Given the description of an element on the screen output the (x, y) to click on. 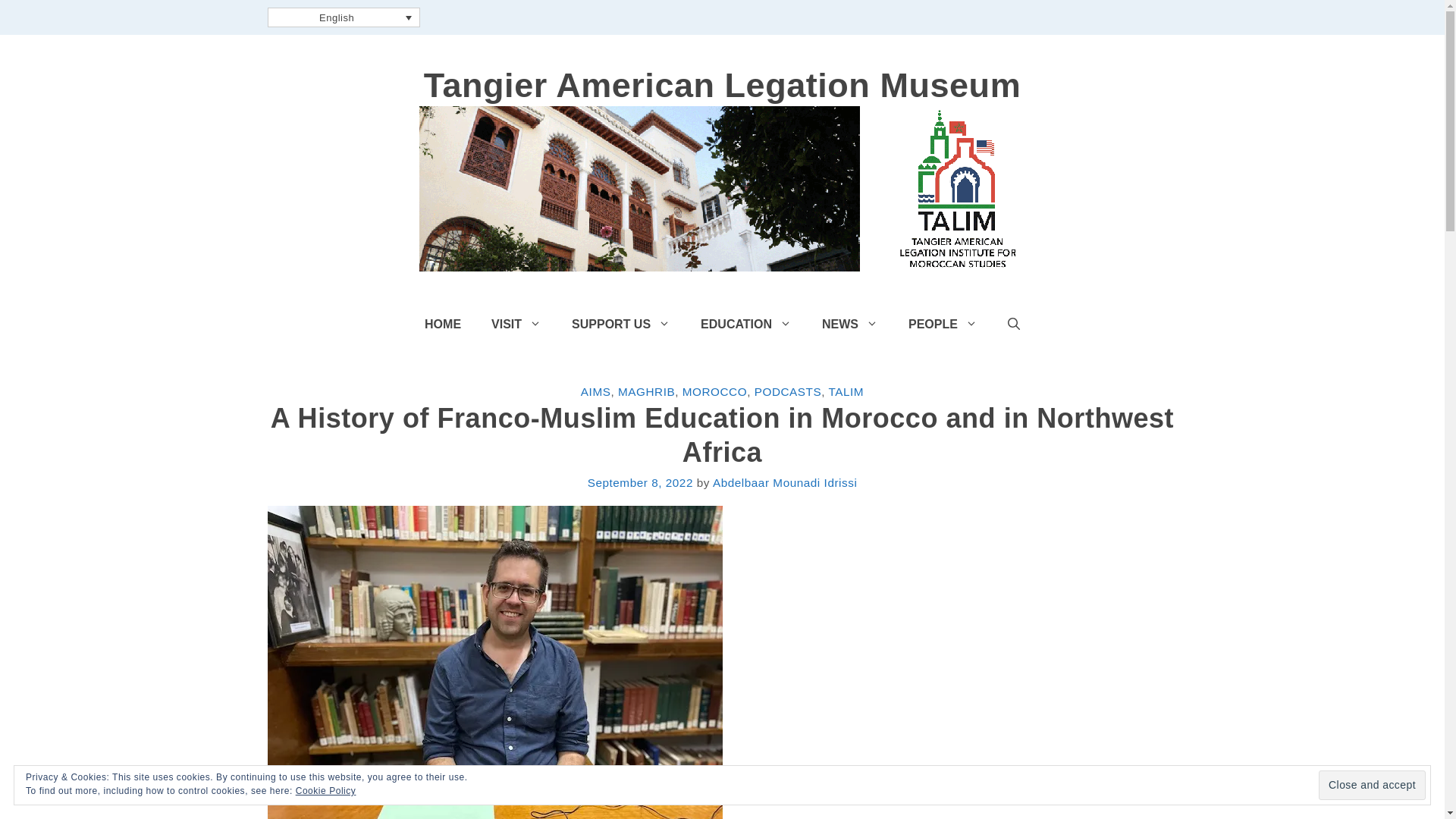
AIMS (595, 391)
VISIT (516, 324)
PEOPLE (942, 324)
TALIM (846, 391)
Tangier American Legation Museum (722, 187)
PODCASTS (787, 391)
September 8, 2022 (640, 481)
MAGHRIB (646, 391)
View all posts by Abdelbaar Mounadi Idrissi (785, 481)
English (343, 17)
Close and accept (1372, 785)
SUPPORT US (620, 324)
HOME (442, 324)
Tangier American Legation Museum (721, 85)
8:55 am (640, 481)
